Given the description of an element on the screen output the (x, y) to click on. 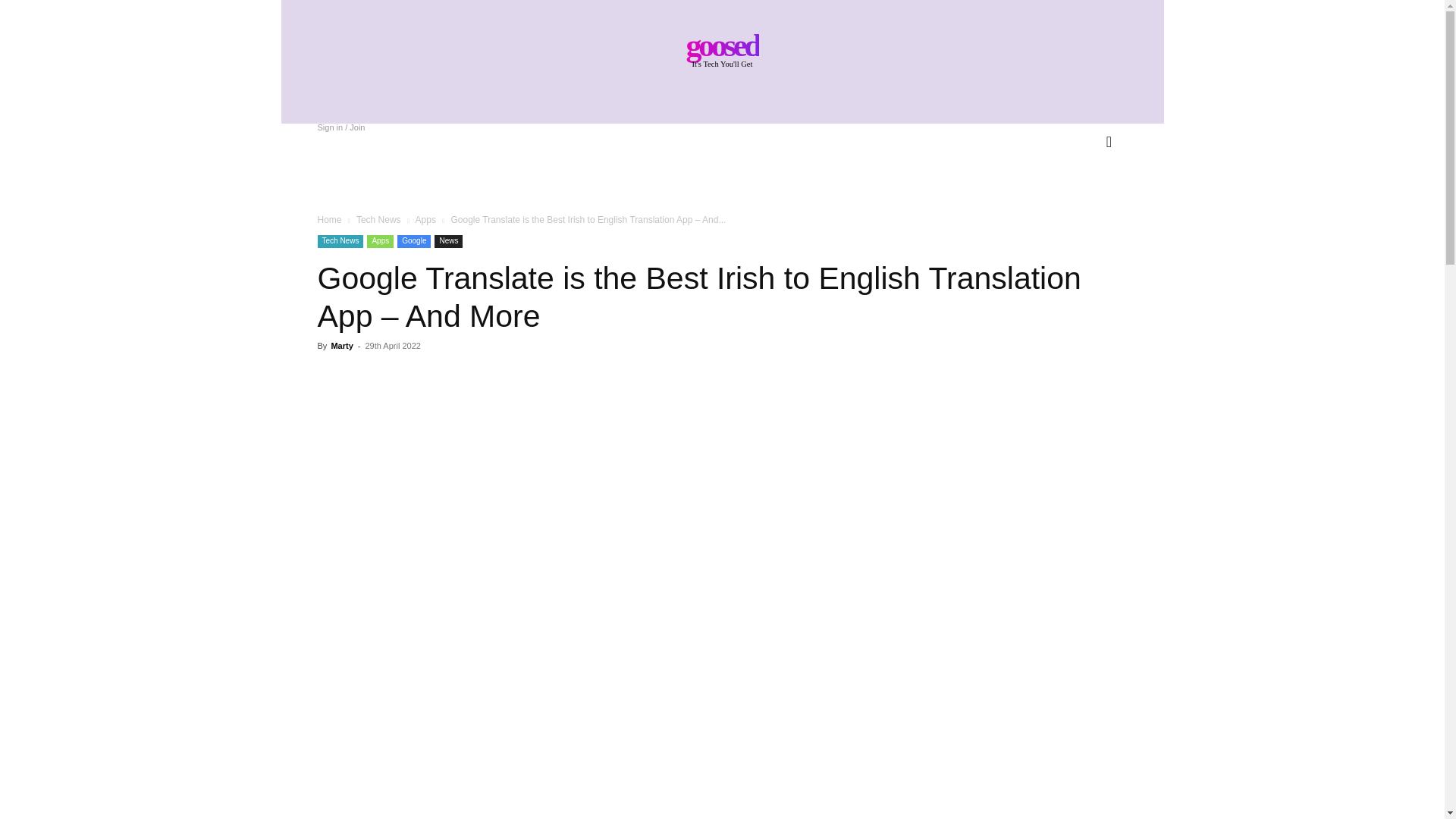
Goosed.ie (721, 47)
